Given the description of an element on the screen output the (x, y) to click on. 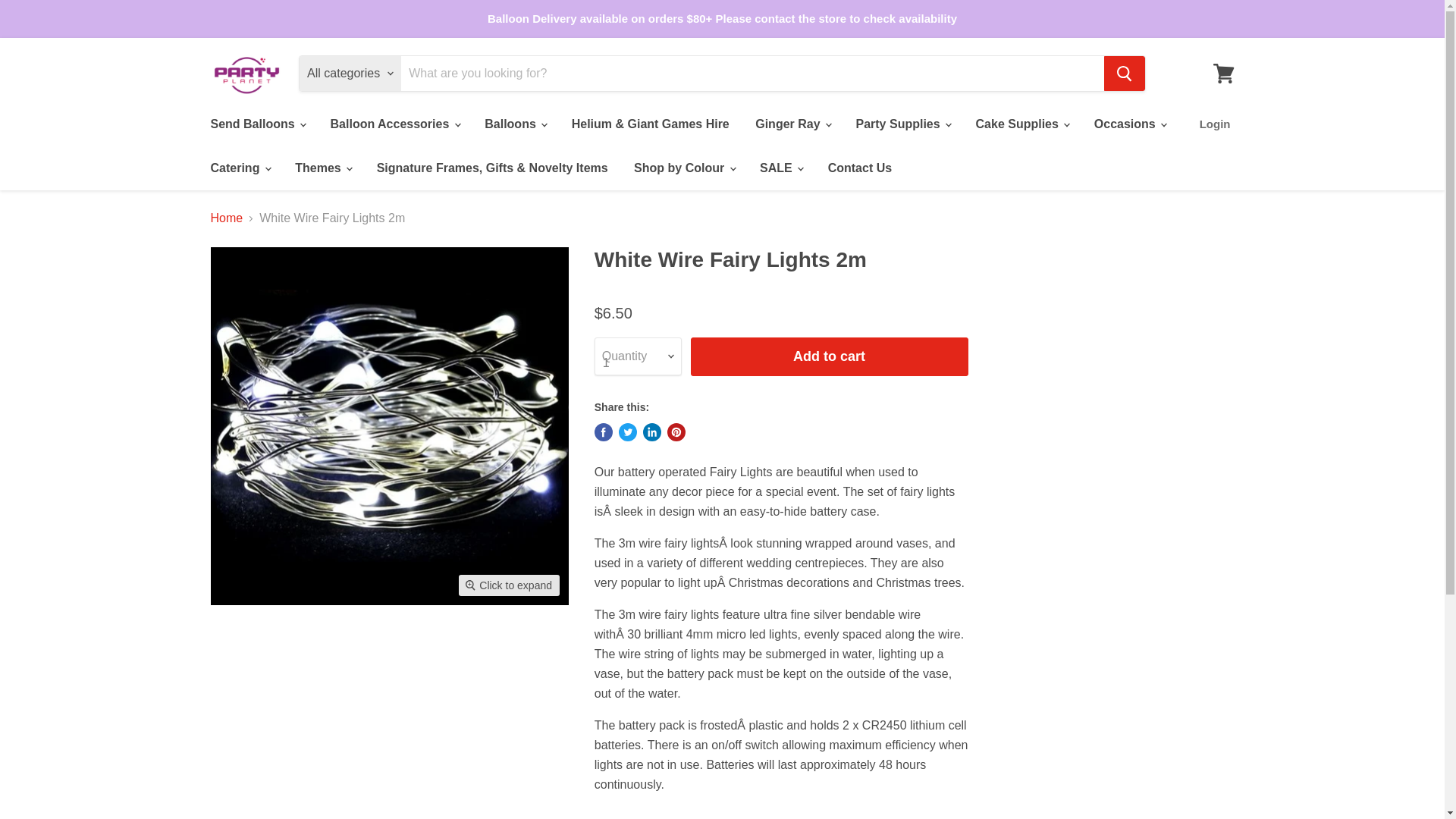
Send Balloons (256, 124)
View cart (1223, 73)
Balloons (514, 124)
Balloon Accessories (394, 124)
